Given the description of an element on the screen output the (x, y) to click on. 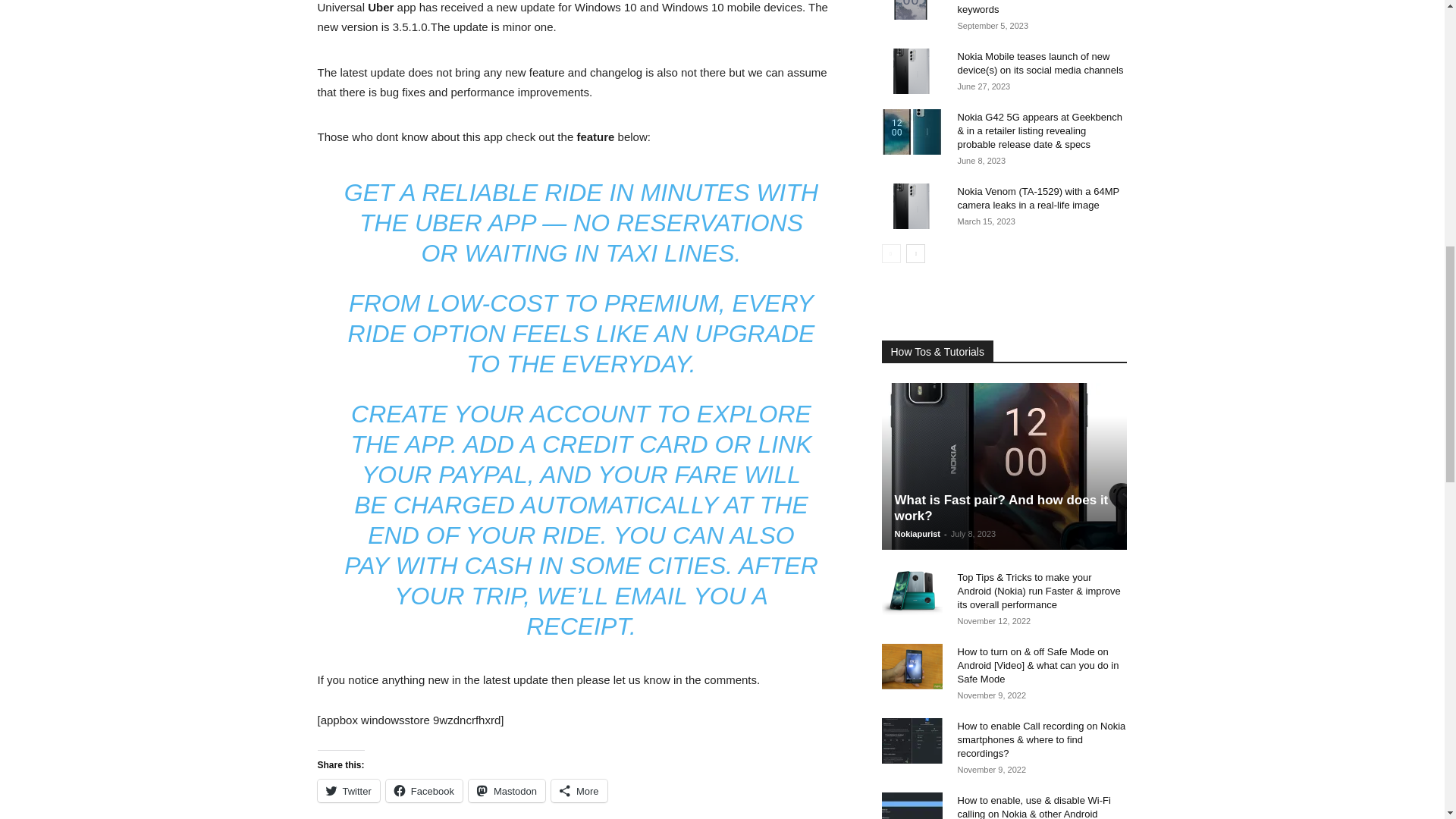
Click to share on Twitter (347, 790)
Click to share on Facebook (424, 790)
Click to share on Mastodon (506, 790)
